Given the description of an element on the screen output the (x, y) to click on. 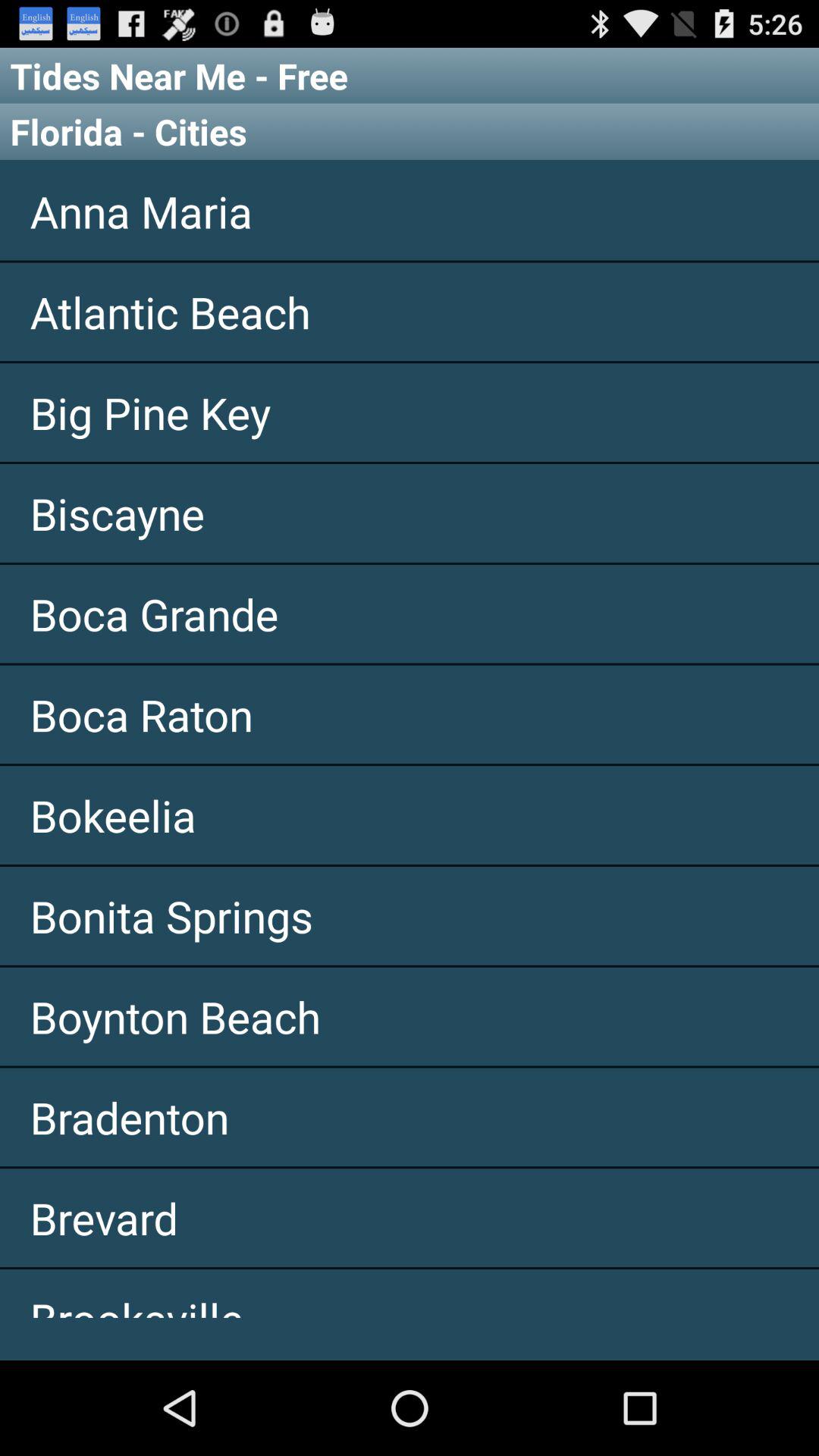
press brevard app (409, 1217)
